Given the description of an element on the screen output the (x, y) to click on. 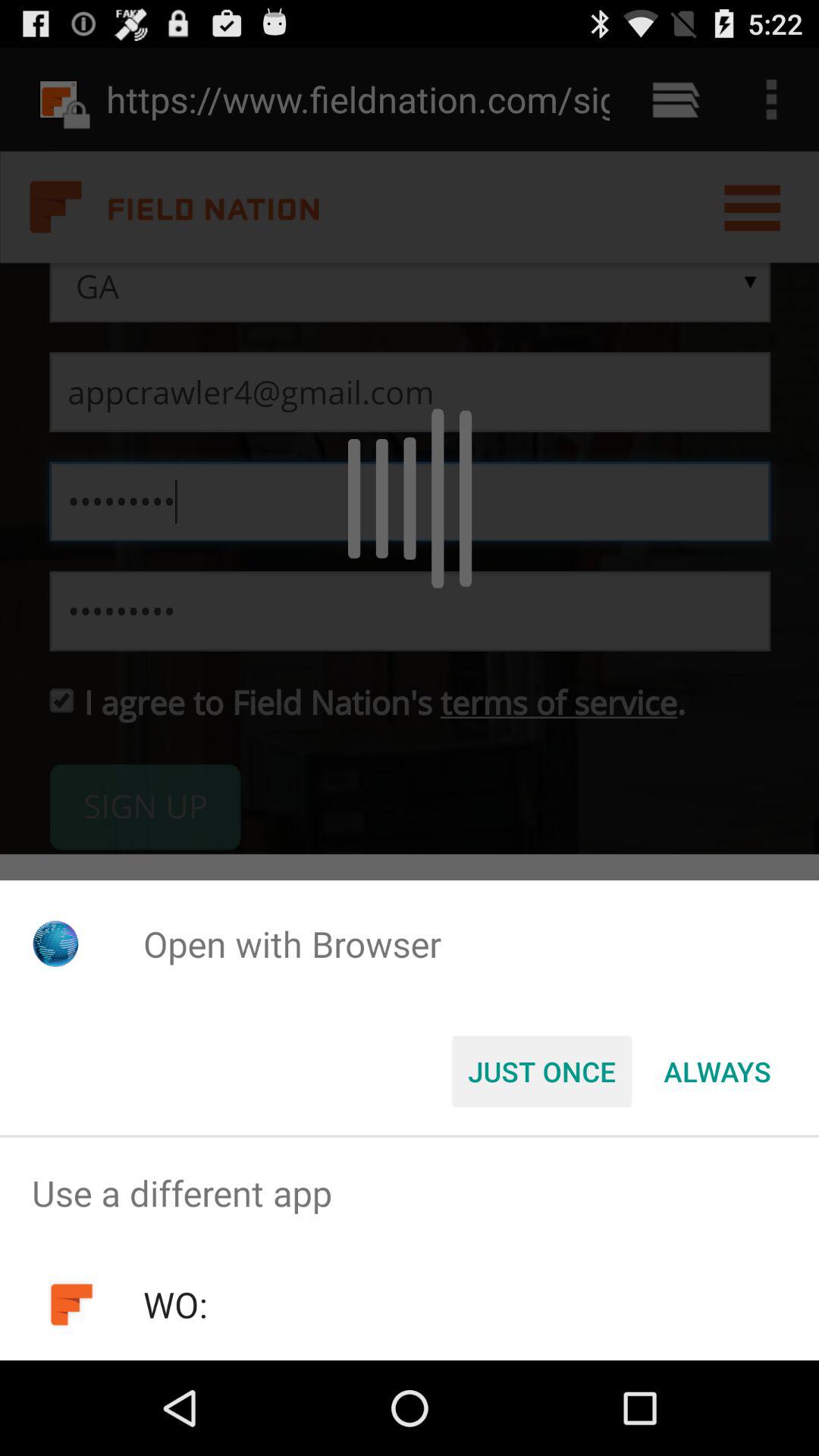
tap use a different icon (409, 1192)
